Given the description of an element on the screen output the (x, y) to click on. 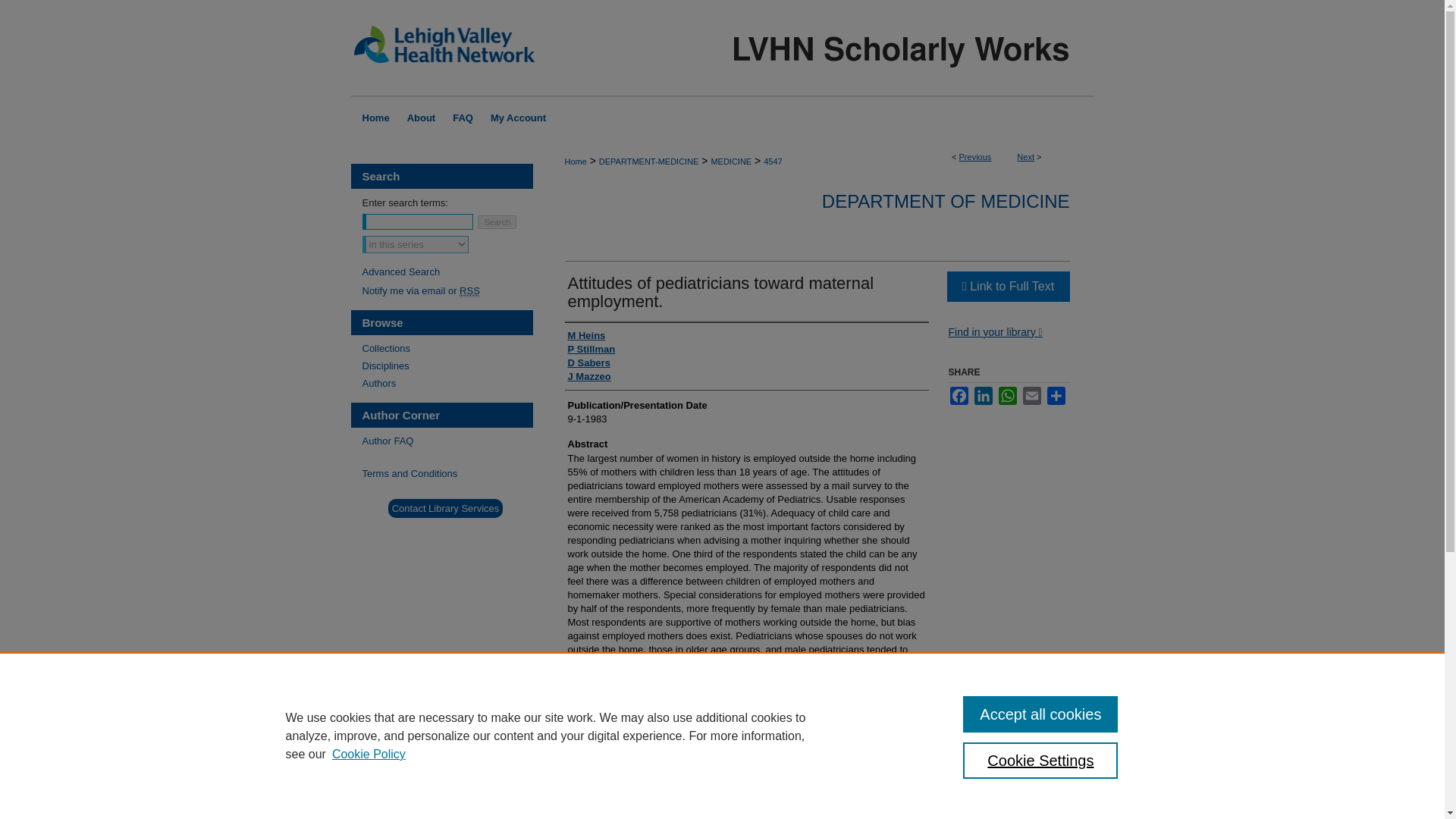
Disciplines (447, 365)
Browse by Collections (447, 348)
WhatsApp (1006, 395)
M Heins (586, 336)
Email (1031, 395)
Home (373, 117)
J Mazzeo (588, 377)
Browse by Disciplines (447, 365)
Really Simple Syndication (470, 291)
LinkedIn (982, 395)
Home (373, 117)
4547 (771, 161)
OpenURL (994, 331)
LVHN Scholarly Works (721, 47)
Search (496, 222)
